Given the description of an element on the screen output the (x, y) to click on. 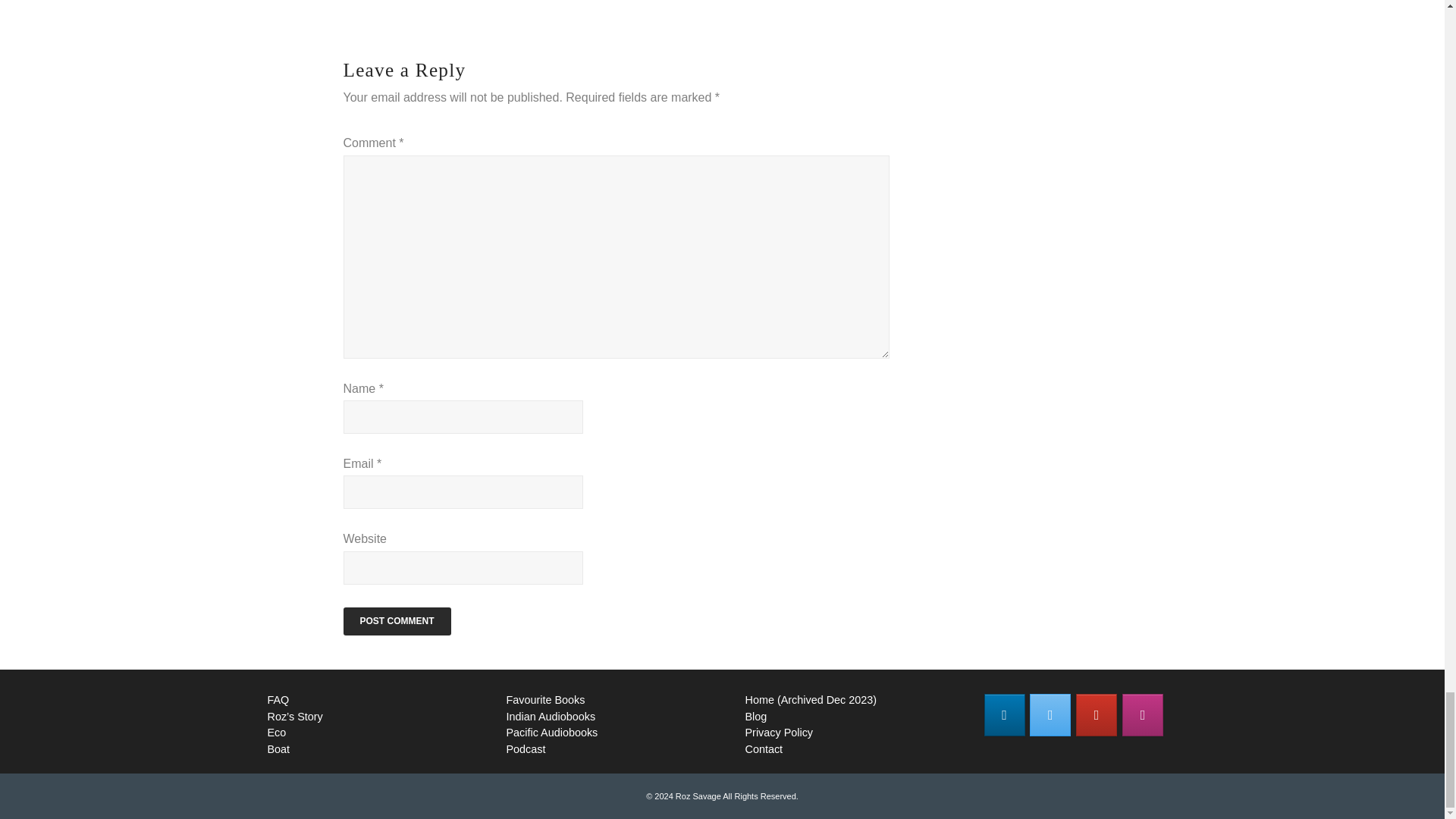
Roz Savage on Linkedin (1004, 714)
Roz Savage on Instagram (1142, 714)
Post Comment (395, 621)
Roz Savage on X Twitter (1049, 714)
Roz Savage on Youtube (1095, 714)
